Given the description of an element on the screen output the (x, y) to click on. 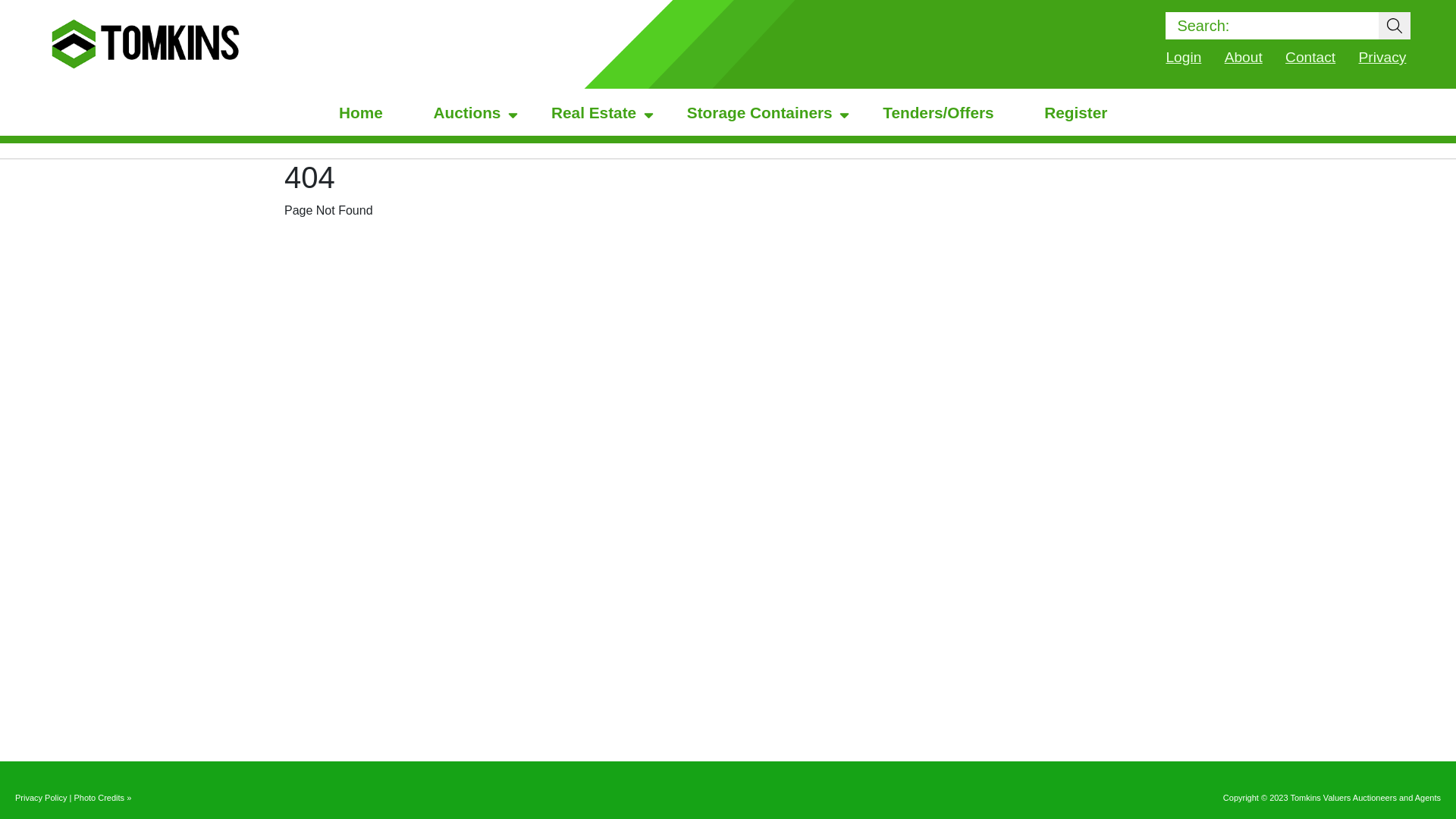
Tenders/Offers Element type: text (937, 112)
Privacy Element type: text (1382, 58)
Go to homepage Element type: hover (145, 43)
Contact Element type: text (1310, 58)
Home Element type: text (360, 112)
Login Element type: text (1183, 58)
Privacy Policy Element type: text (40, 797)
Real Estate Element type: text (593, 112)
Register Element type: text (1075, 112)
About Element type: text (1243, 58)
Storage Containers Element type: text (759, 112)
Auctions Element type: text (466, 112)
